Given the description of an element on the screen output the (x, y) to click on. 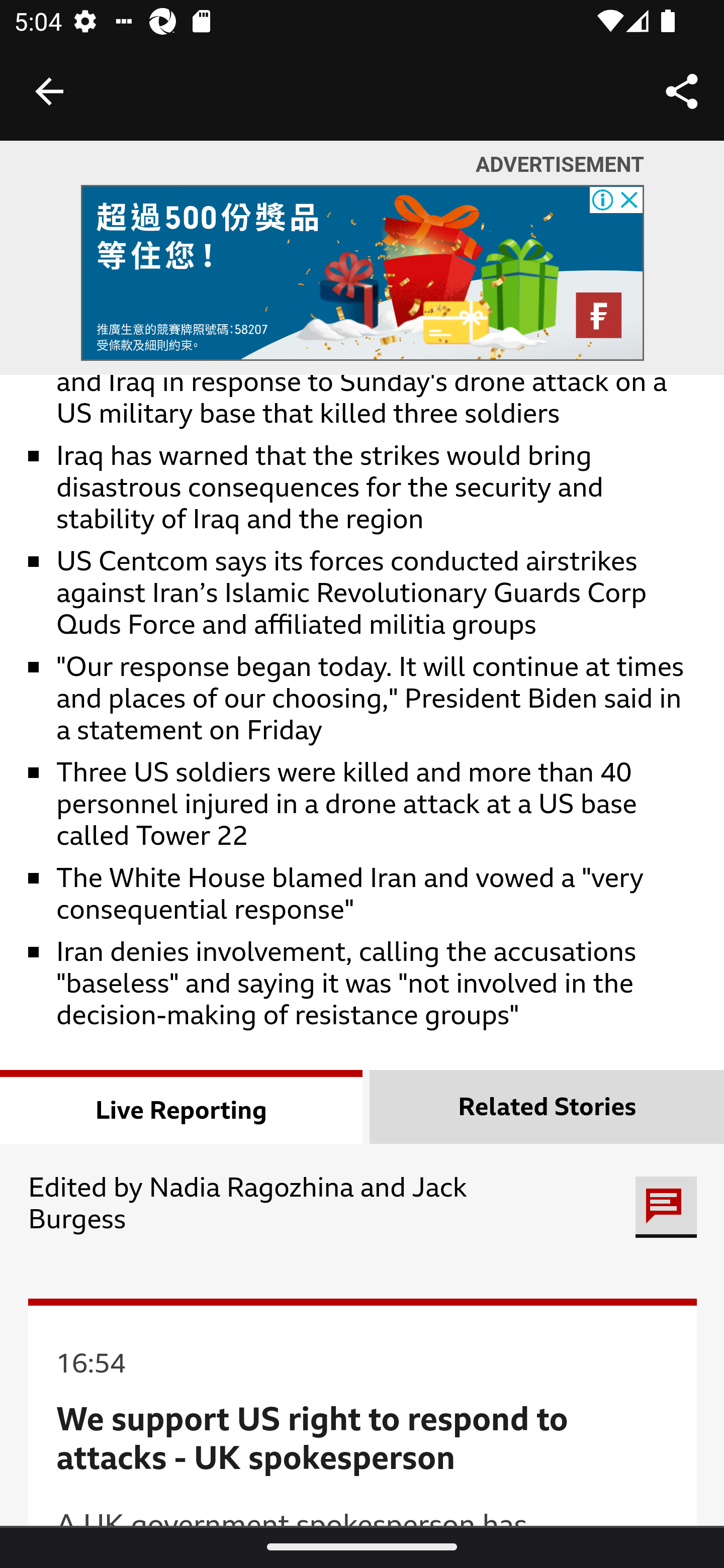
Back (49, 91)
Share (681, 90)
Live Reporting (182, 1107)
Related Stories (546, 1107)
Get involved (665, 1208)
